Given the description of an element on the screen output the (x, y) to click on. 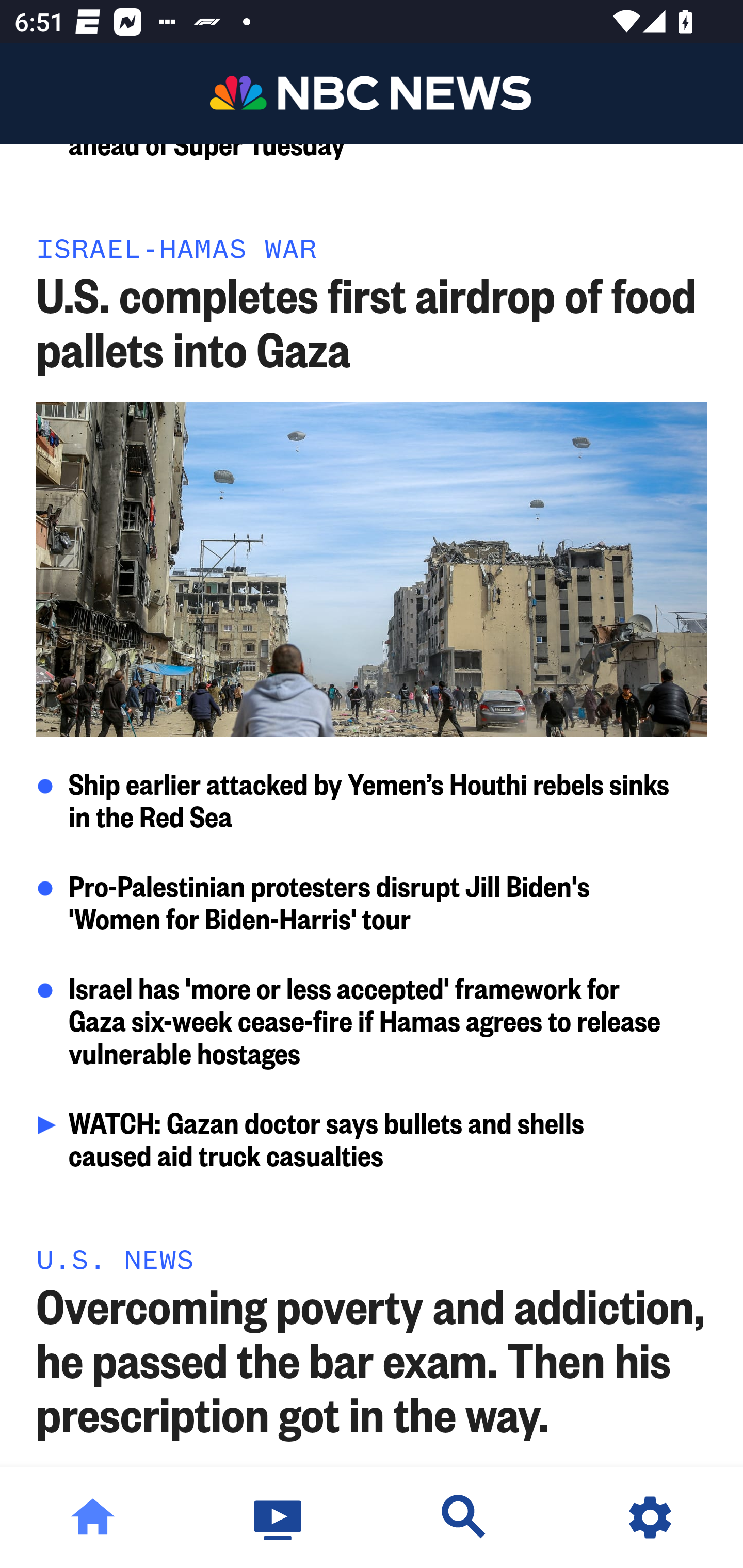
Watch (278, 1517)
Discover (464, 1517)
Settings (650, 1517)
